Given the description of an element on the screen output the (x, y) to click on. 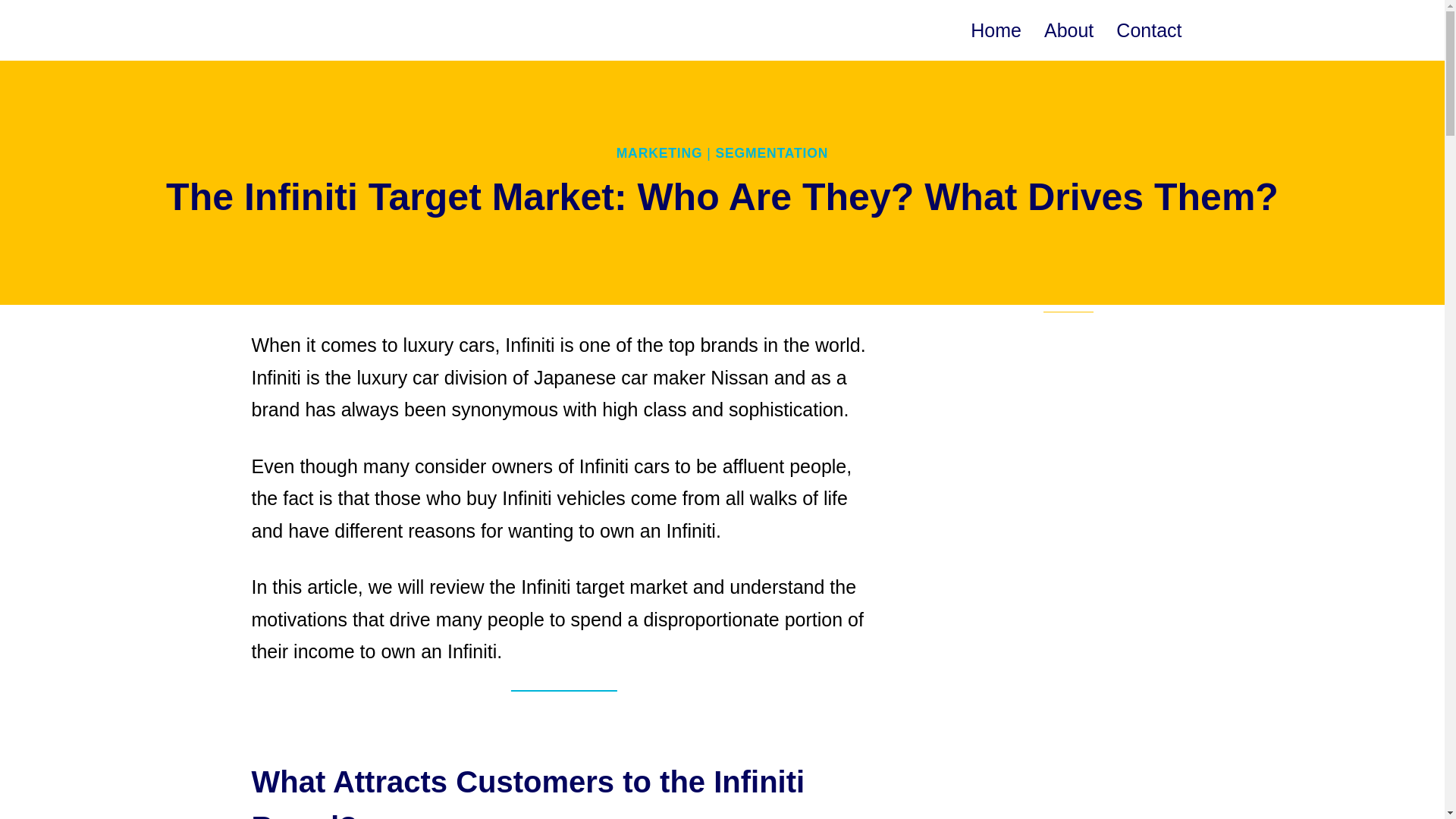
Contact (1148, 30)
Home (995, 30)
MARKETING (659, 152)
SEGMENTATION (771, 152)
About (1068, 30)
